Given the description of an element on the screen output the (x, y) to click on. 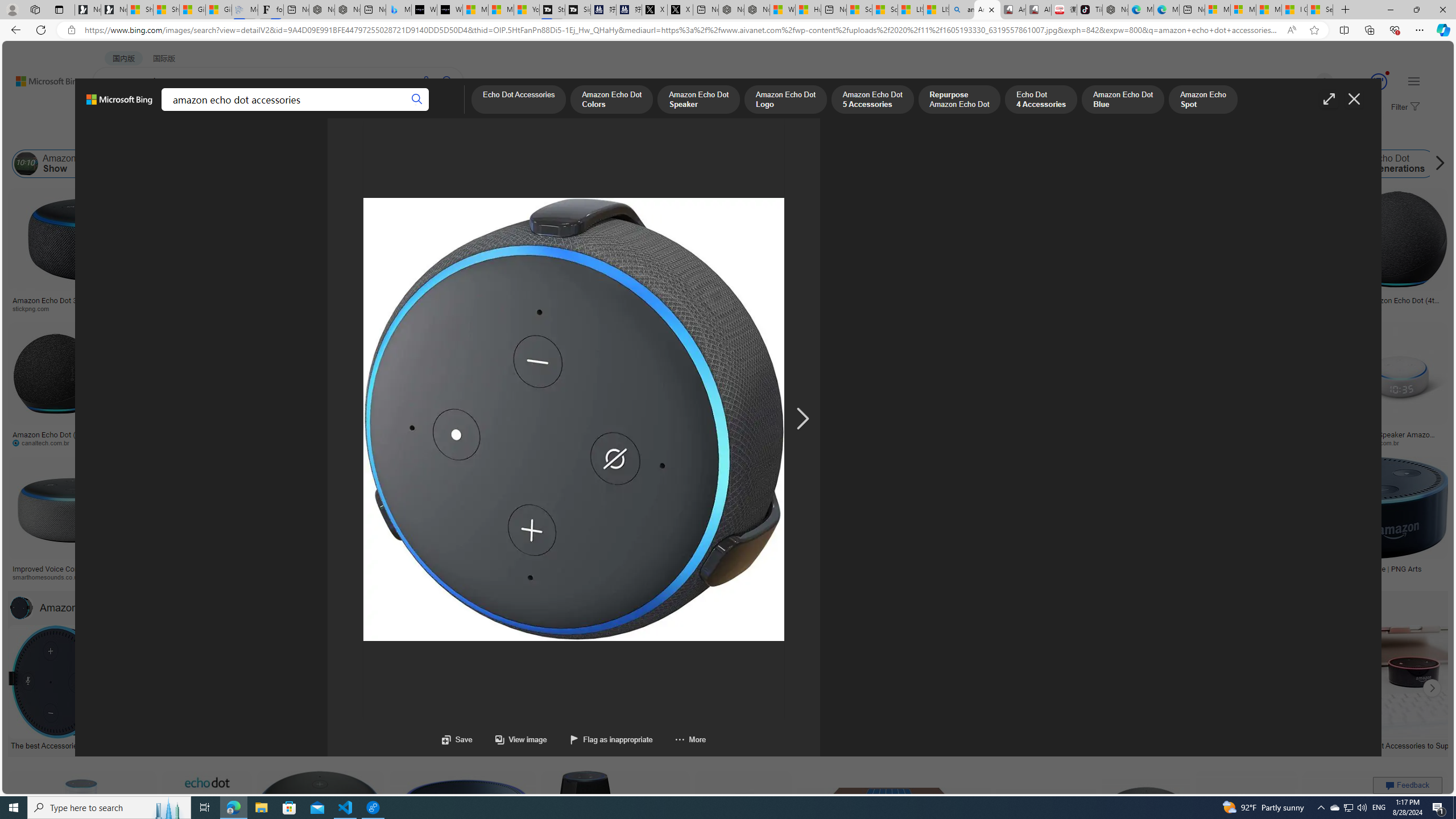
Streaming Coverage | T3 (551, 9)
Amazon Echo Speaker (681, 163)
Echo Dot Accessories Echo Dot Accessories (828, 687)
mediamarkt.de (537, 576)
